Given the description of an element on the screen output the (x, y) to click on. 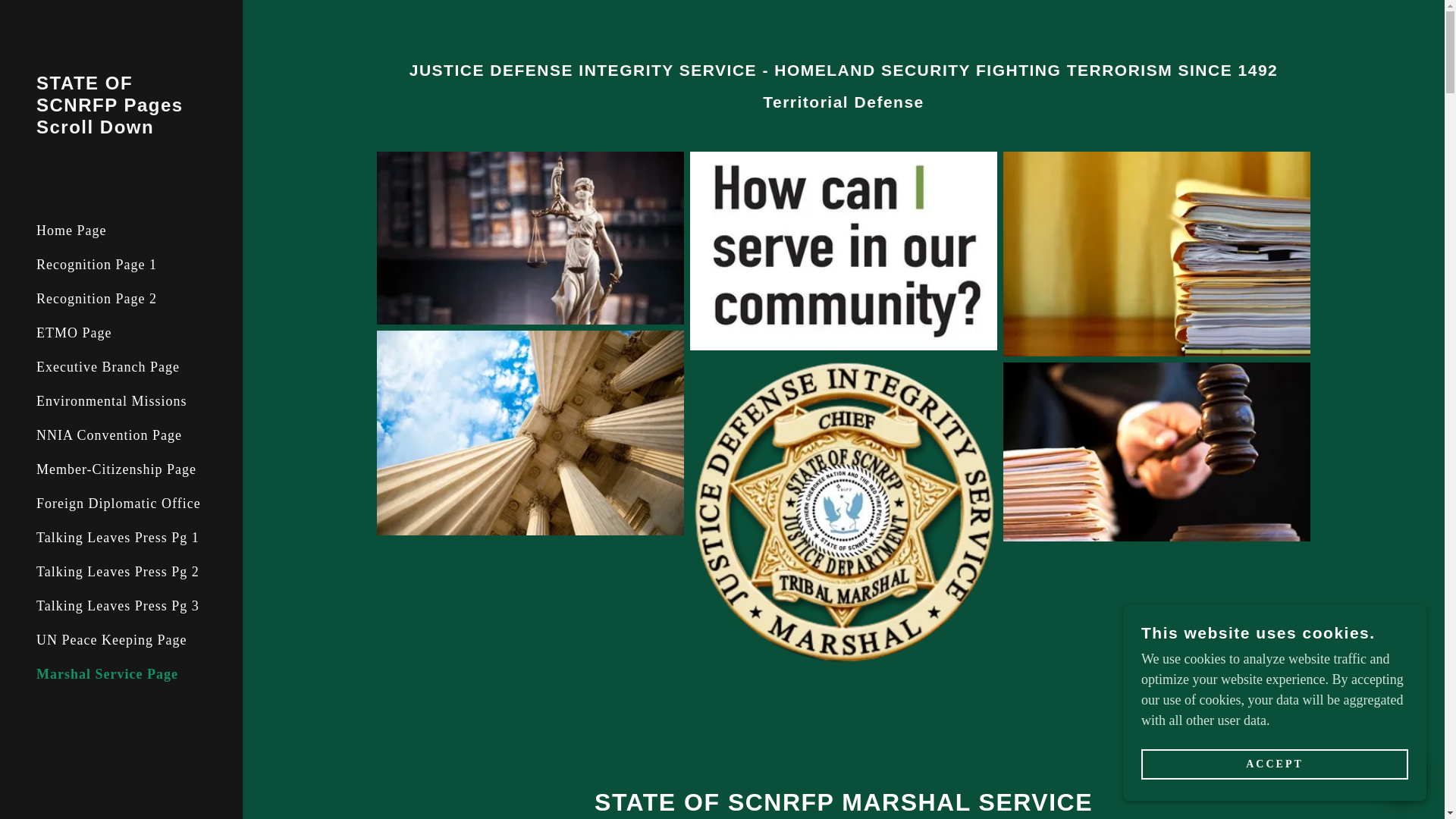
Home Page (71, 230)
Talking Leaves Press Pg 3 (117, 605)
STATE OF SCNRFP Pages Scroll Down (121, 128)
Recognition Page 2 (96, 298)
Talking Leaves Press Pg 2 (117, 571)
UN Peace Keeping Page (111, 639)
Recognition Page 1 (96, 264)
STATE OF SCNRFP Pages Scroll Down (121, 128)
NNIA Convention Page (109, 435)
Marshal Service Page (106, 673)
Member-Citizenship Page (116, 468)
Talking Leaves Press Pg 1 (117, 537)
Executive Branch Page (107, 366)
ETMO Page (74, 332)
Environmental Missions (111, 400)
